Given the description of an element on the screen output the (x, y) to click on. 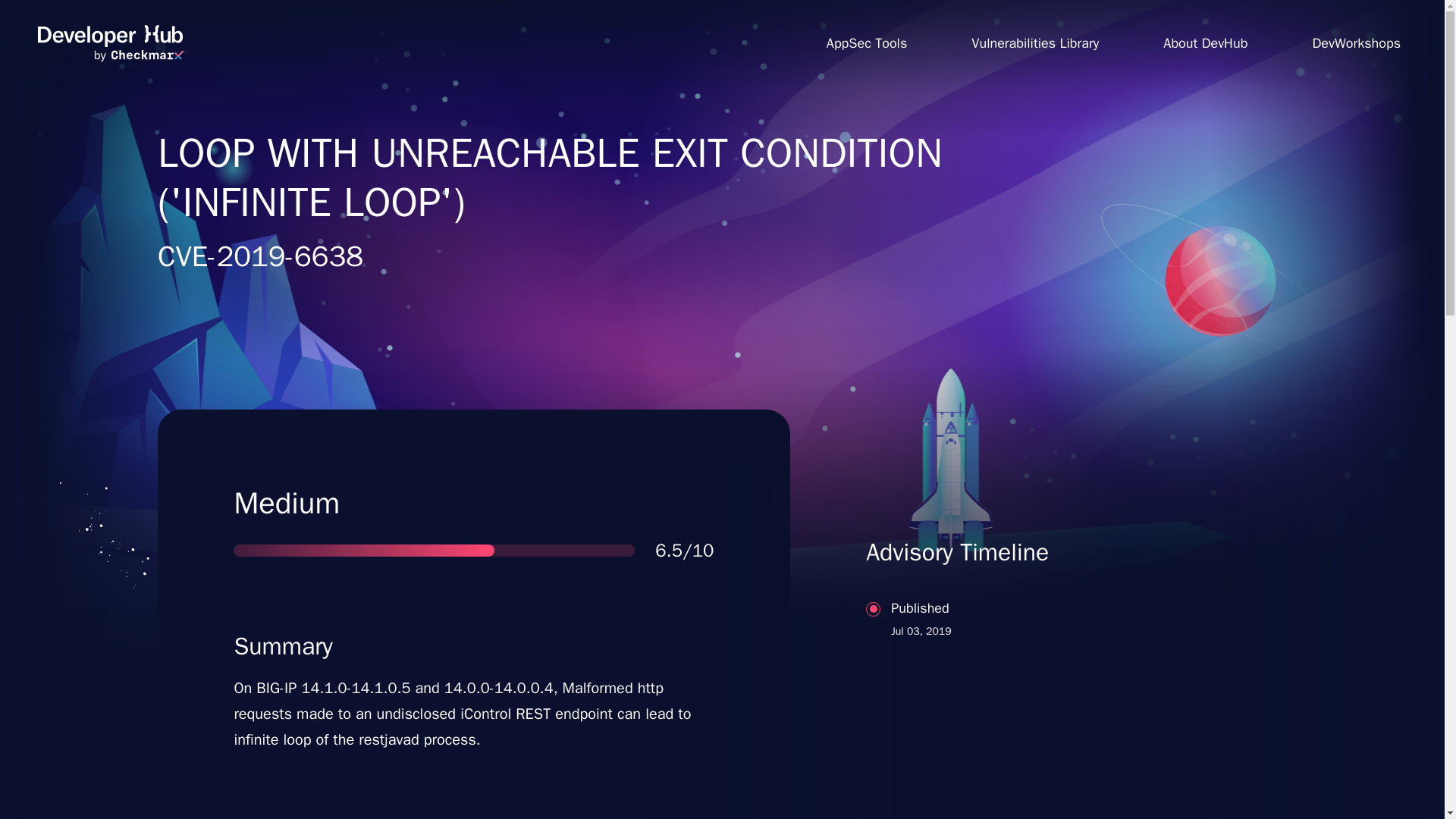
Vulnerabilities Library (1035, 43)
About DevHub (1205, 43)
AppSec Tools (1037, 678)
Goto website home page (866, 43)
DevWorkshops (110, 43)
